Given the description of an element on the screen output the (x, y) to click on. 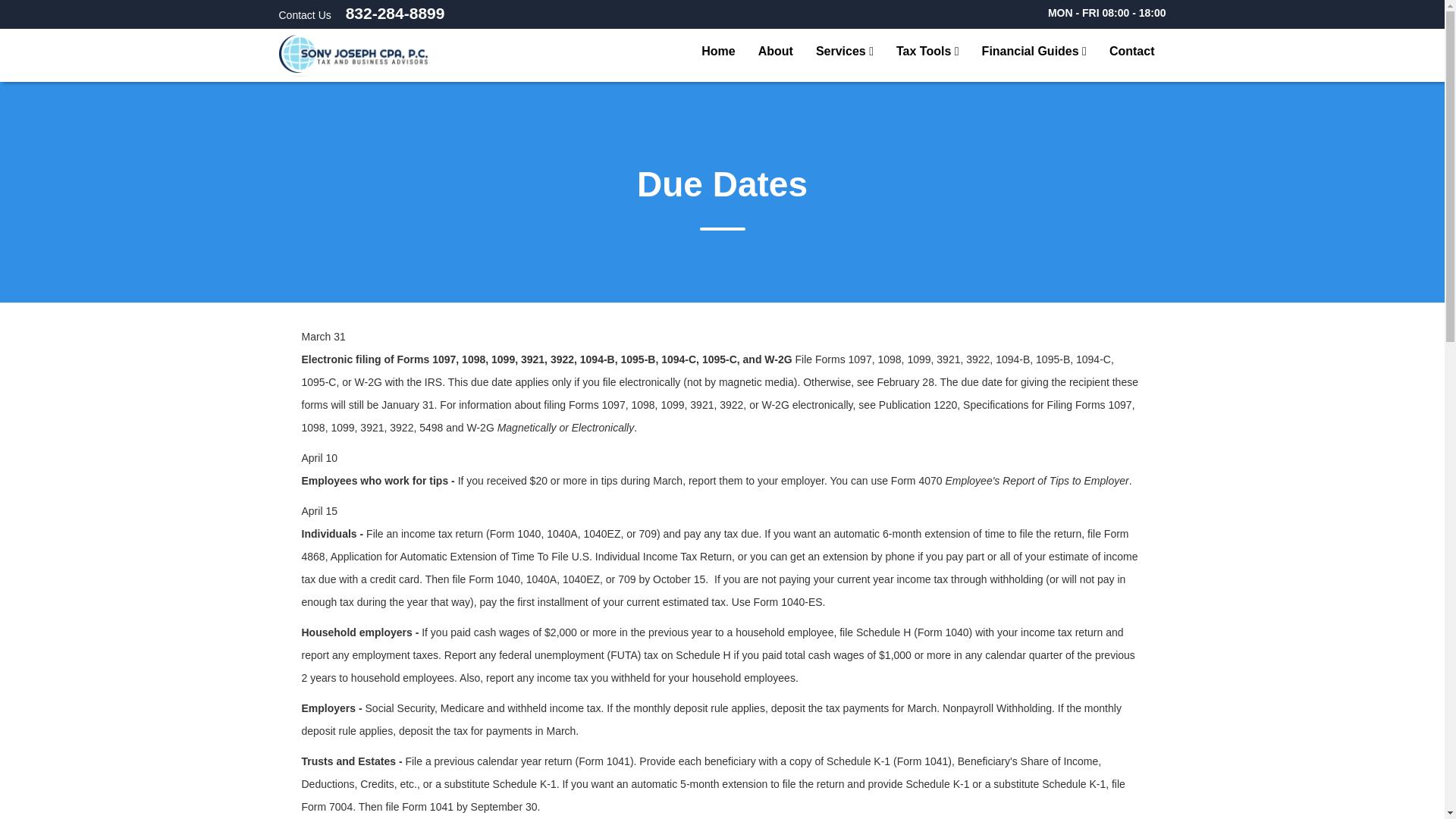
Home (717, 54)
Financial Guides (1034, 54)
Tax Tools (928, 54)
About (775, 54)
Services (845, 54)
Home (353, 55)
Contact (1131, 54)
